Given the description of an element on the screen output the (x, y) to click on. 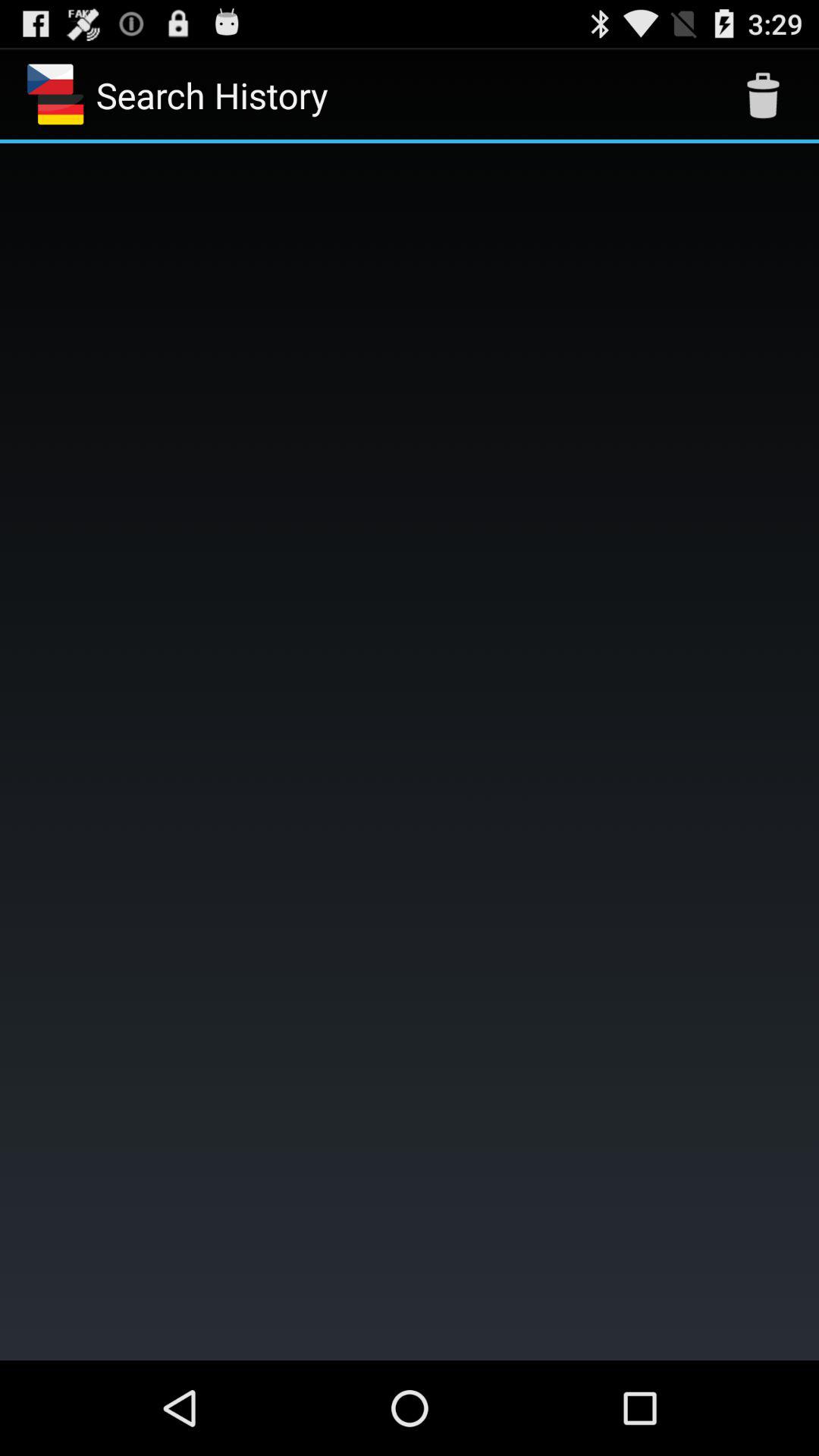
launch the item at the top right corner (763, 95)
